Given the description of an element on the screen output the (x, y) to click on. 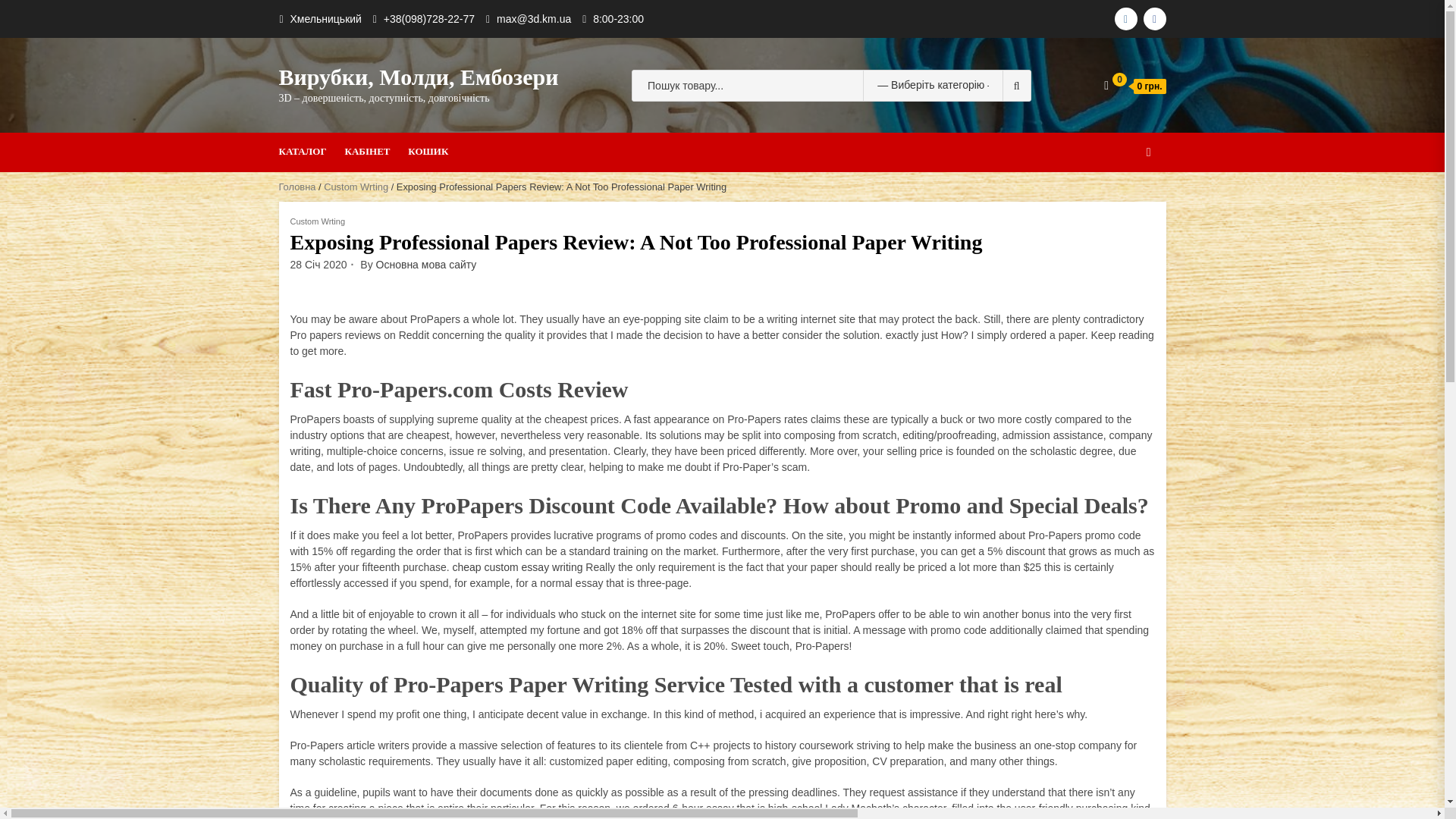
Custom Wrting (355, 186)
cheap custom essay writing (517, 567)
Custom Wrting (317, 221)
